Given the description of an element on the screen output the (x, y) to click on. 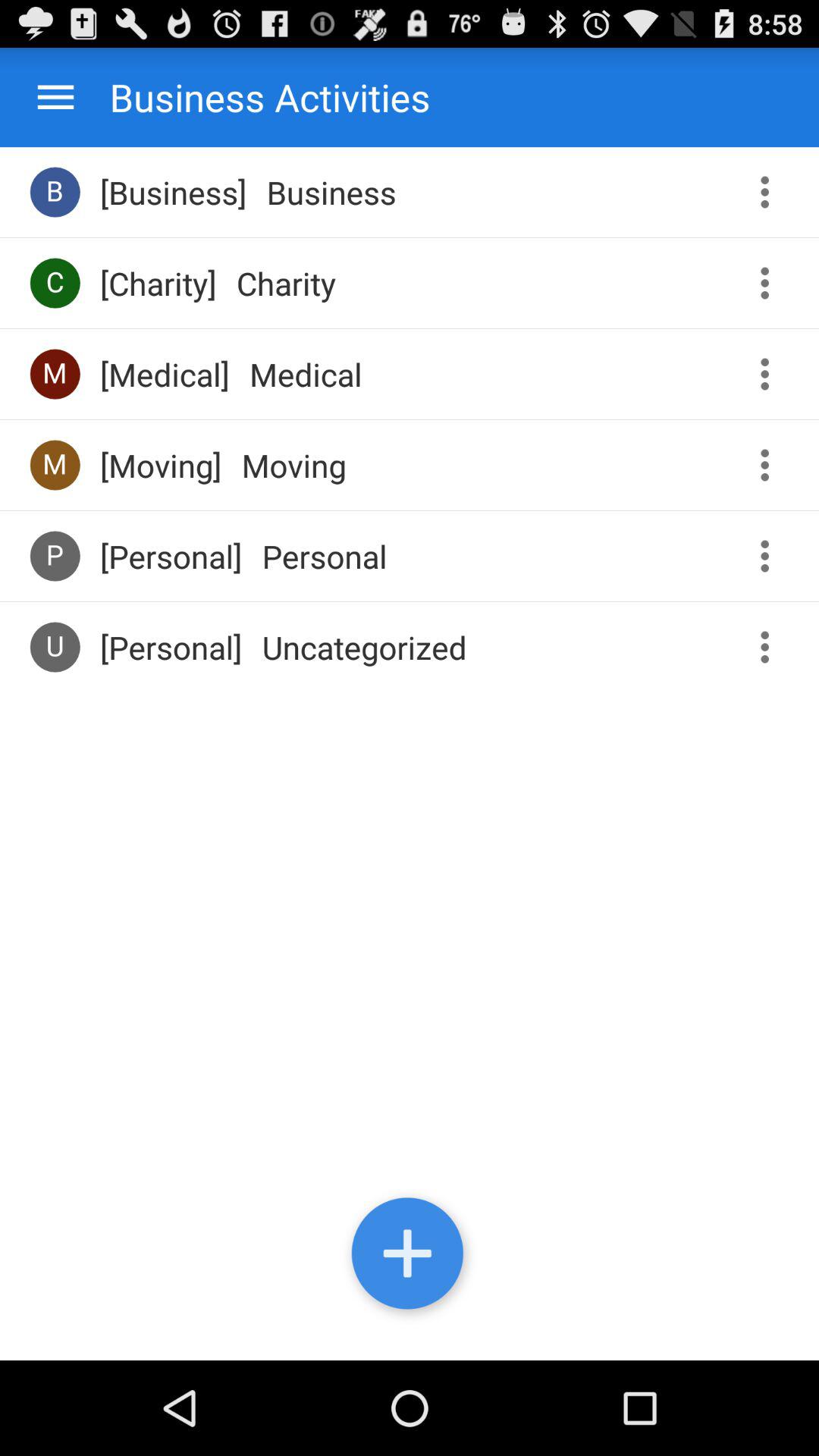
open icon to the left of [business] app (54, 191)
